Given the description of an element on the screen output the (x, y) to click on. 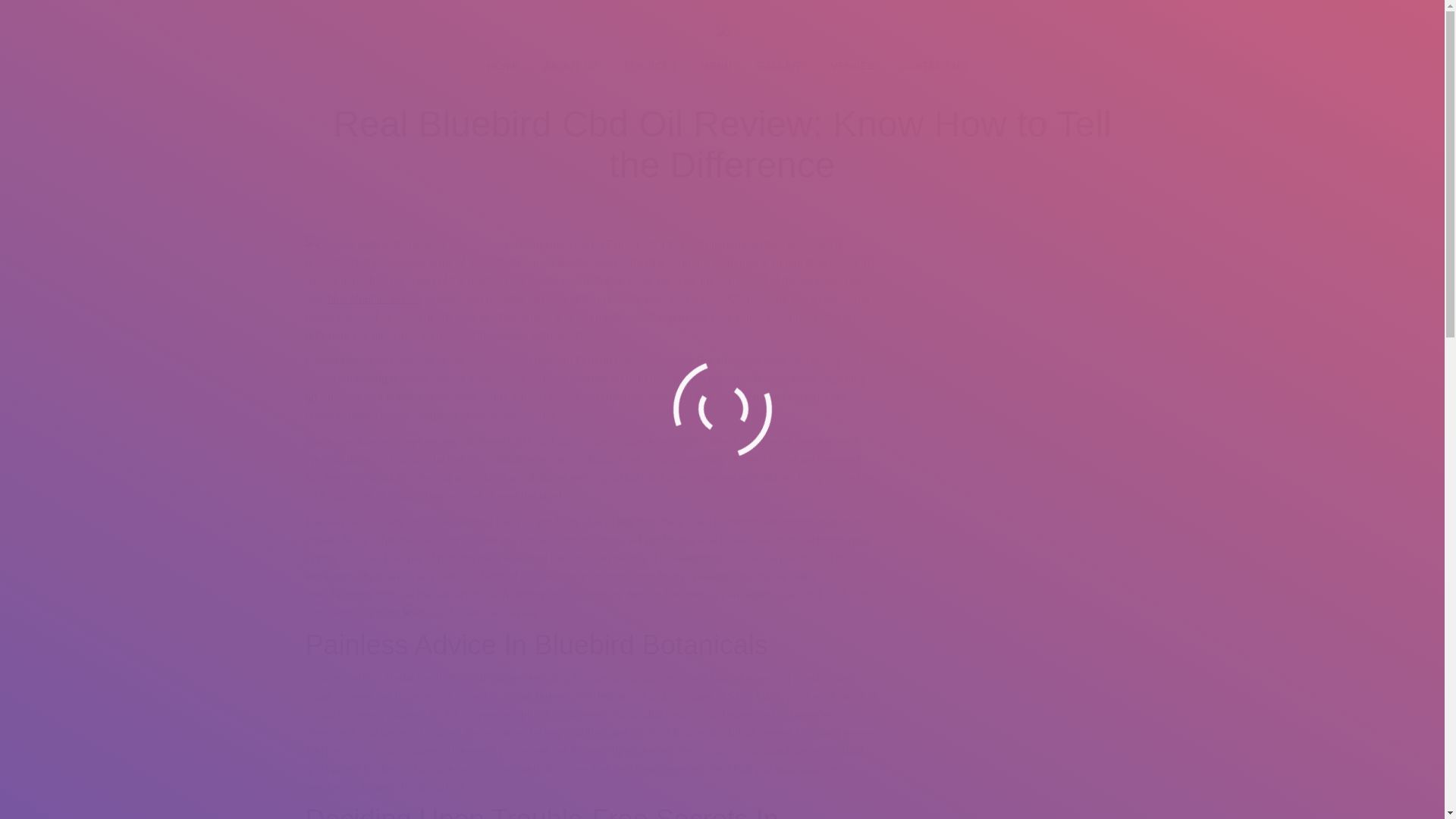
ABOUT US (569, 66)
go (310, 397)
CONTACT US (933, 66)
HOME (502, 66)
MENU (716, 66)
VENUES (852, 66)
blue bluebird review (374, 298)
SERVICES (649, 66)
GALLERY (780, 66)
